Given the description of an element on the screen output the (x, y) to click on. 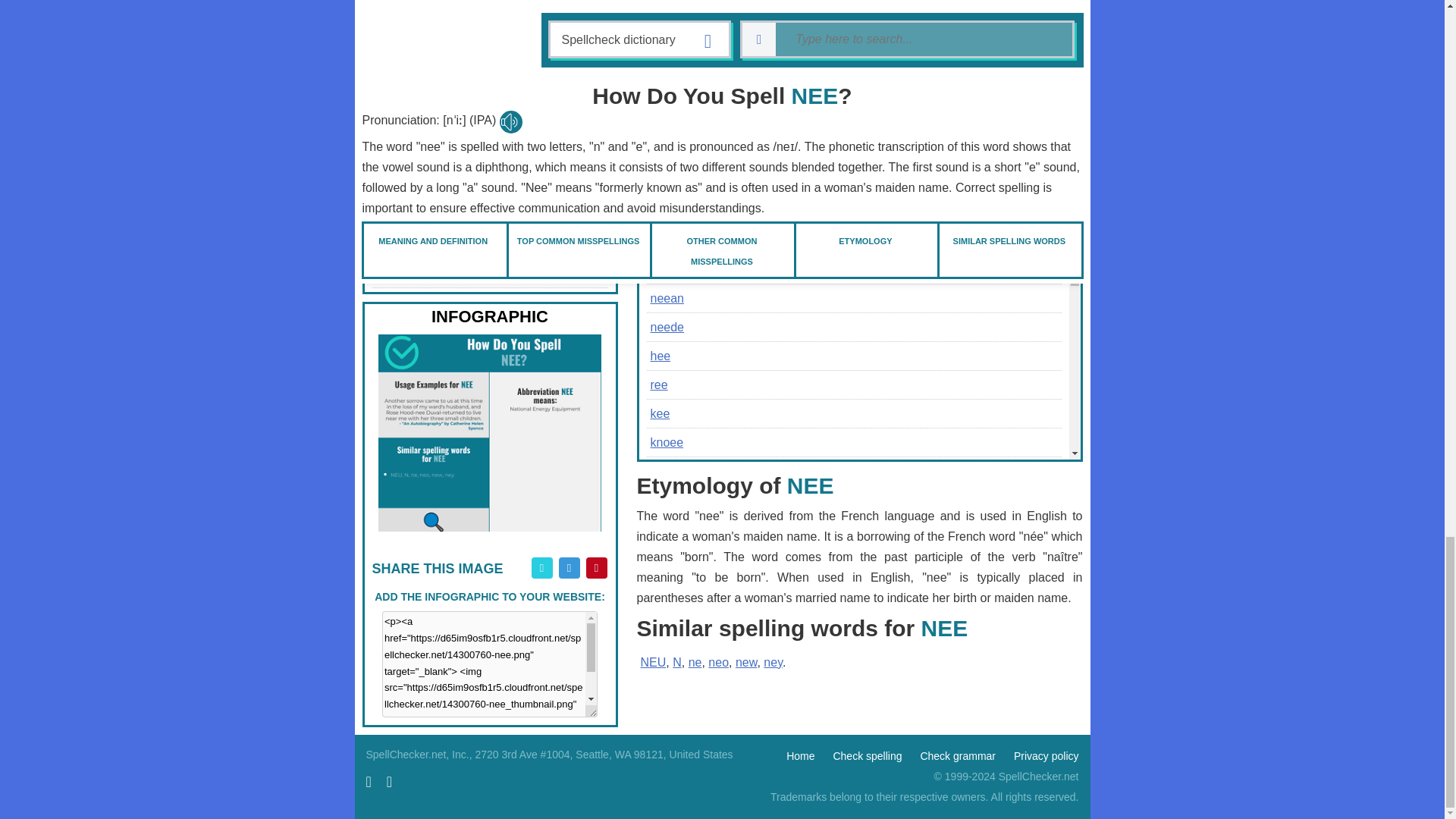
neecia (489, 209)
nedrick (489, 2)
neen (660, 3)
neds (489, 51)
need (489, 241)
nedunwp (489, 83)
need certificate (489, 272)
neece (489, 177)
neeb (489, 146)
nedrow (489, 20)
